Given the description of an element on the screen output the (x, y) to click on. 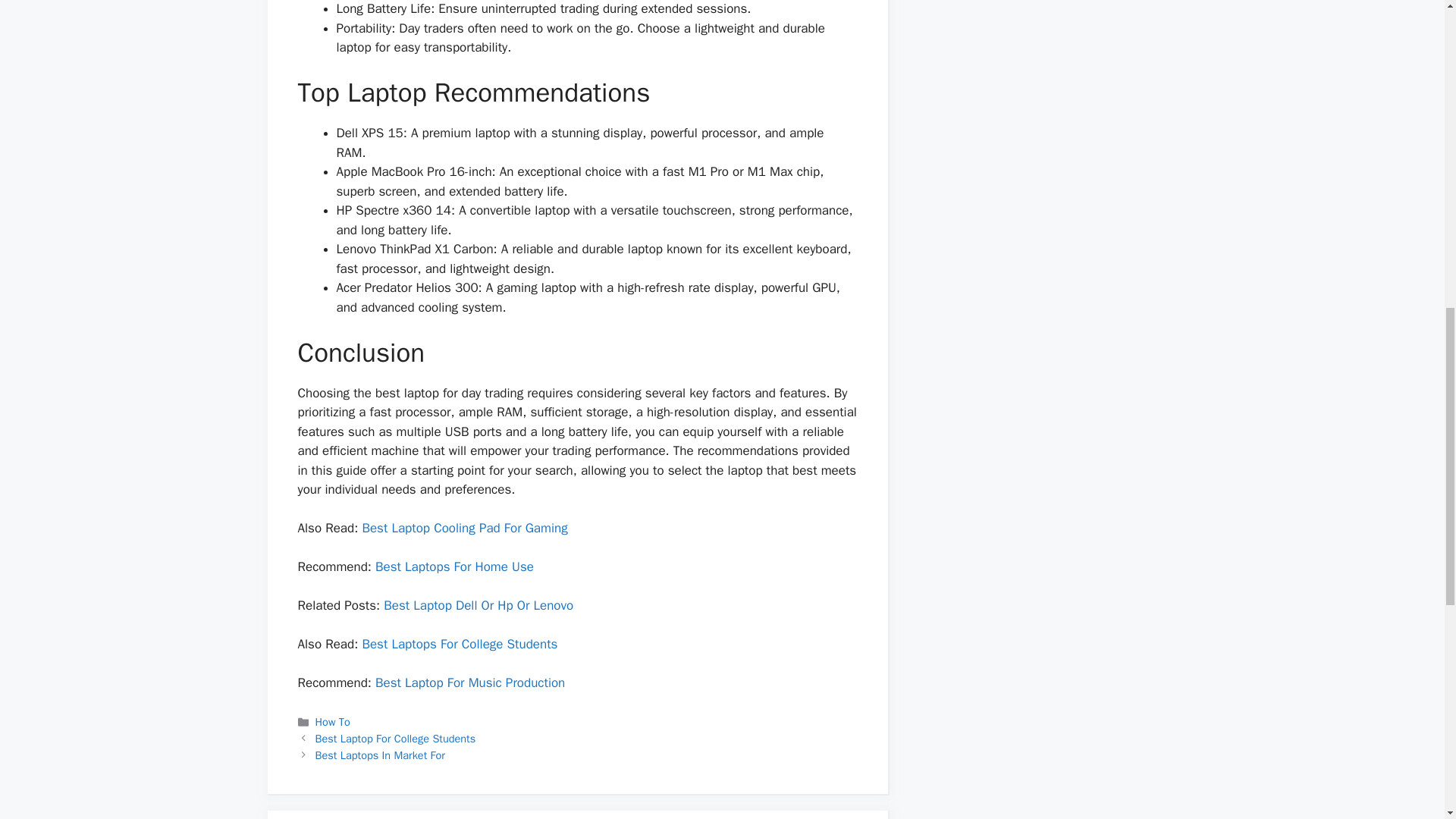
Best Laptop For College Students (395, 738)
Best Laptops For College Students (459, 643)
Best Laptop For Music Production (469, 682)
Best Laptop Dell Or Hp Or Lenovo (478, 605)
Best Laptop Cooling Pad For Gaming (464, 528)
How To (332, 721)
Best Laptops In Market For (380, 755)
Best Laptops For Home Use (454, 566)
